Given the description of an element on the screen output the (x, y) to click on. 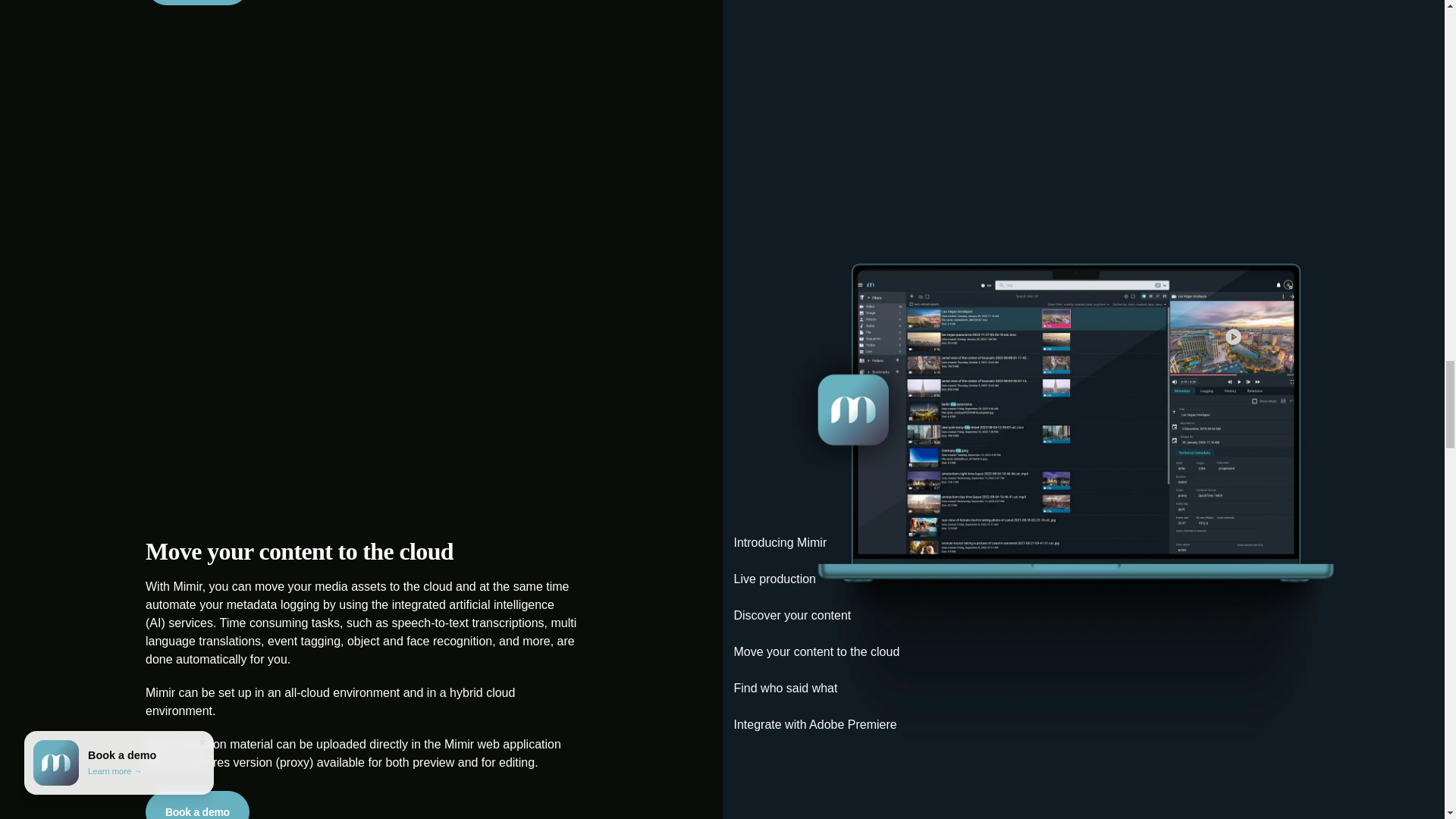
Book a demo (196, 805)
Book a demo (196, 2)
